Given the description of an element on the screen output the (x, y) to click on. 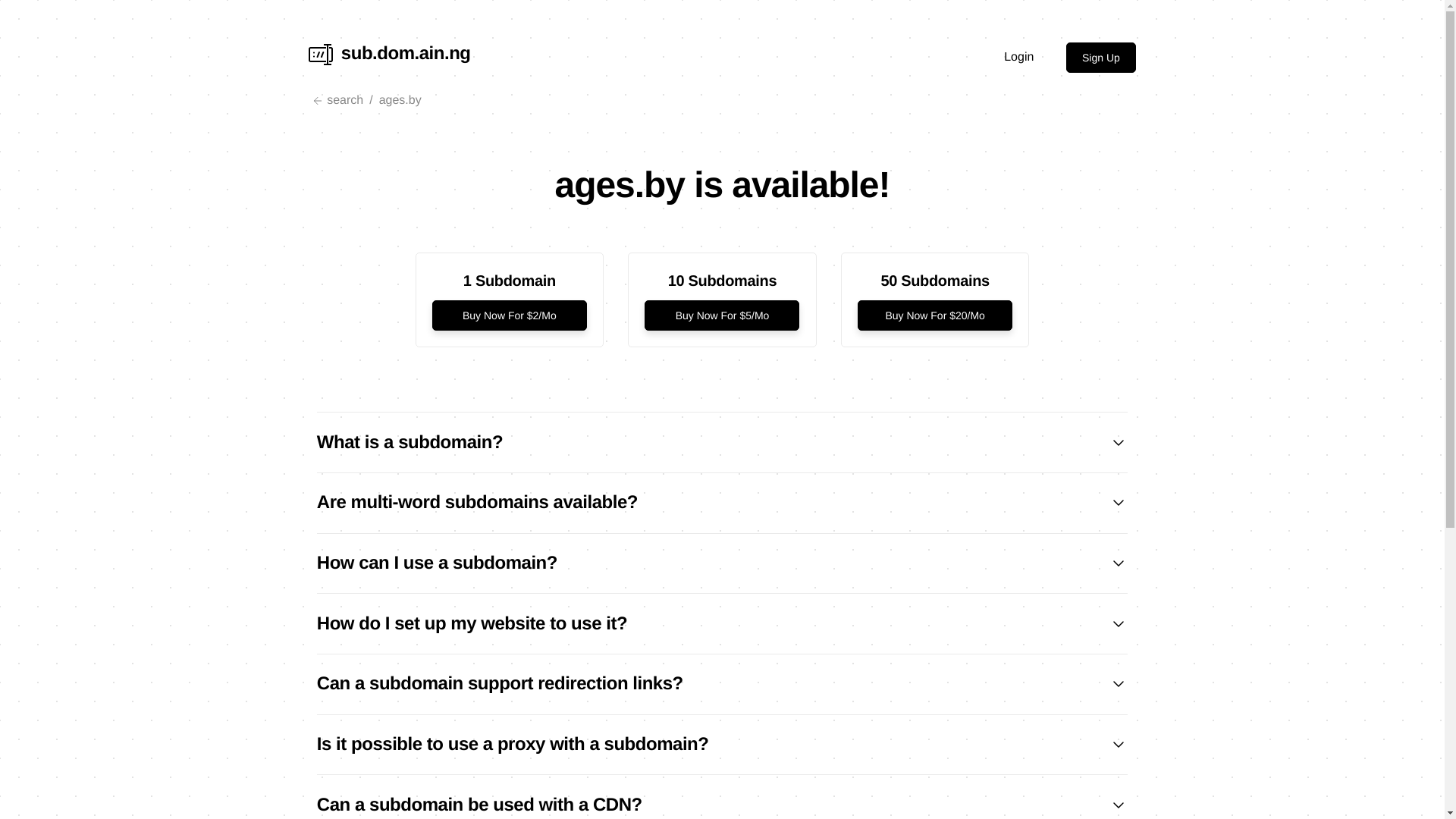
ages.by Element type: text (400, 100)
search Element type: text (335, 100)
Buy Now For $5/Mo Element type: text (721, 315)
Login Element type: text (1018, 57)
Buy Now For $20/Mo Element type: text (934, 315)
Sign Up Element type: text (1100, 57)
sub.dom.ain.ng Element type: text (389, 57)
Buy Now For $2/Mo Element type: text (509, 315)
